Given the description of an element on the screen output the (x, y) to click on. 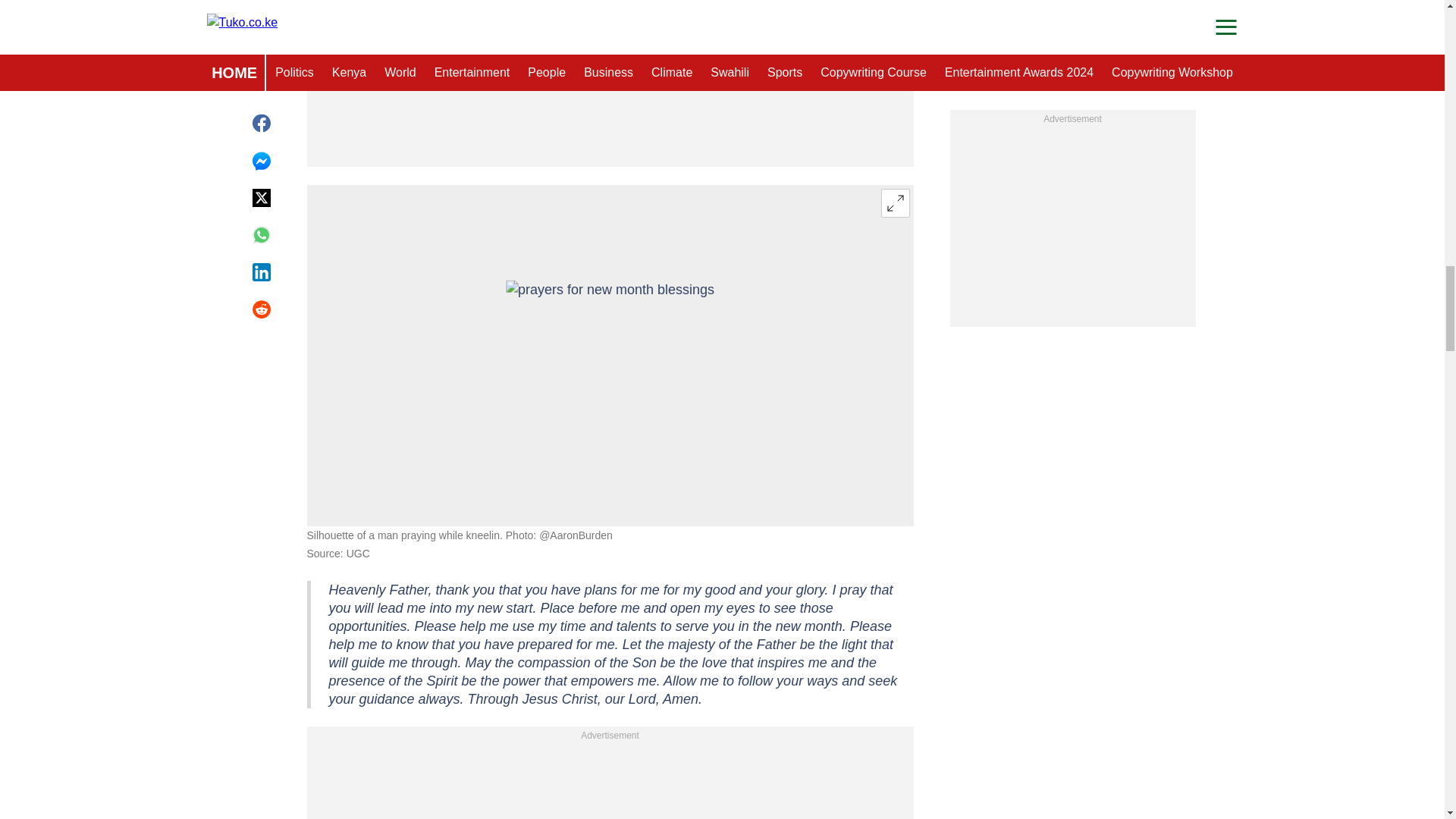
prayers for new month blessings (609, 355)
Expand image (895, 203)
